Given the description of an element on the screen output the (x, y) to click on. 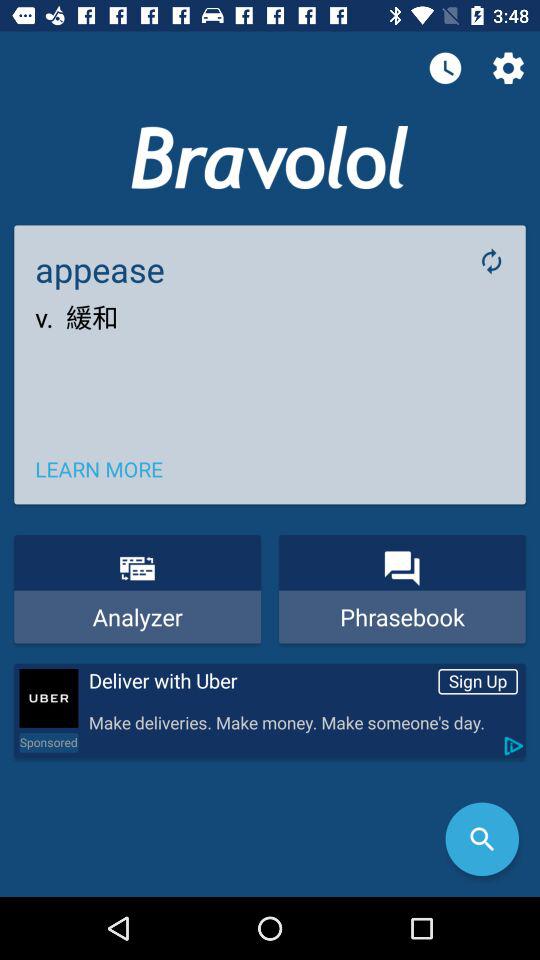
search articles with description (482, 839)
